Given the description of an element on the screen output the (x, y) to click on. 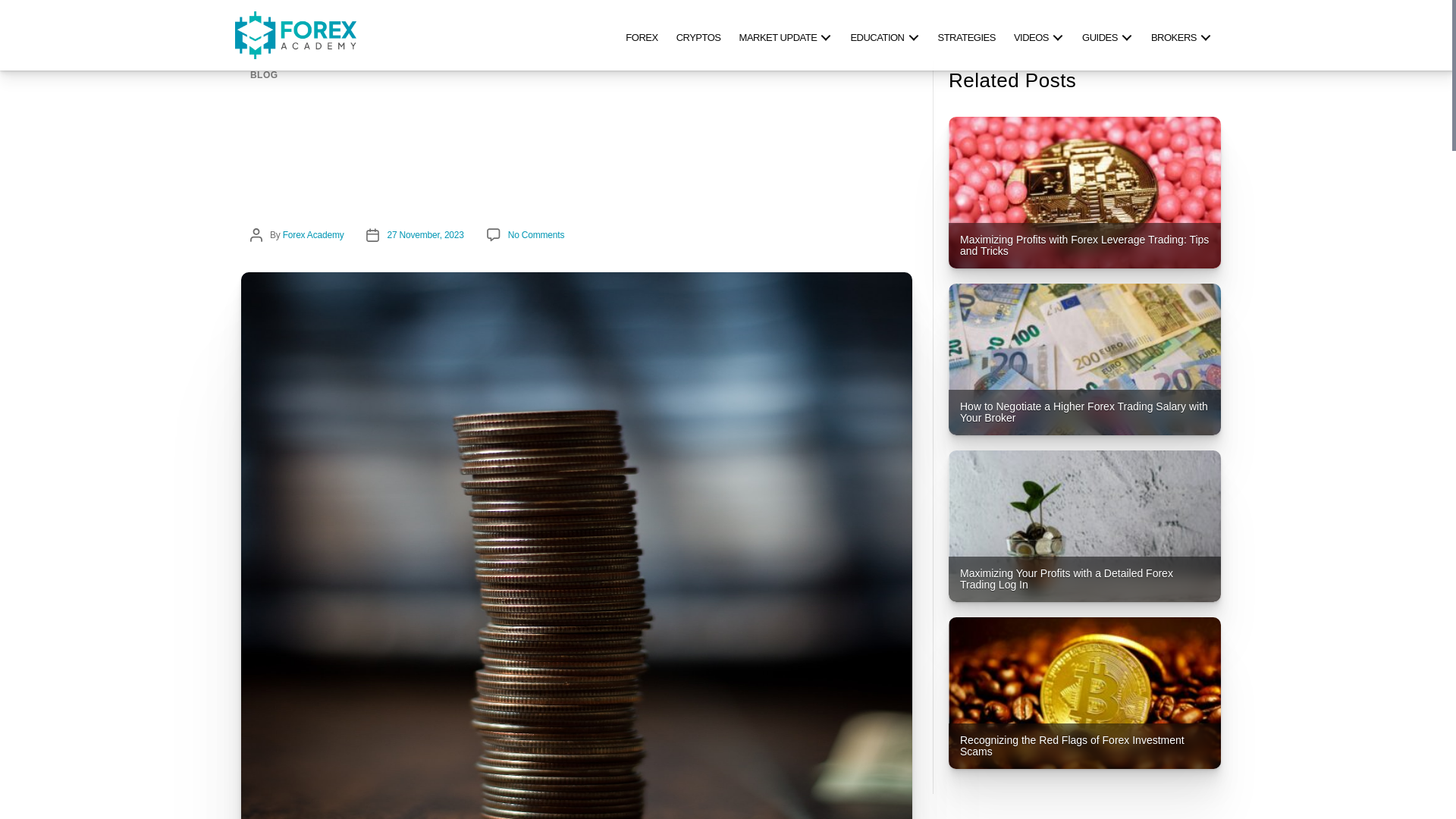
EDUCATION (884, 35)
MARKET UPDATE (785, 35)
Recognizing the Red Flags of Forex Investment Scams (1085, 693)
GUIDES (1107, 35)
STRATEGIES (966, 35)
Maximizing Your Profits with a Detailed Forex Trading Log In (1085, 525)
BROKERS (1181, 35)
CRYPTOS (698, 35)
VIDEOS (1038, 35)
